Given the description of an element on the screen output the (x, y) to click on. 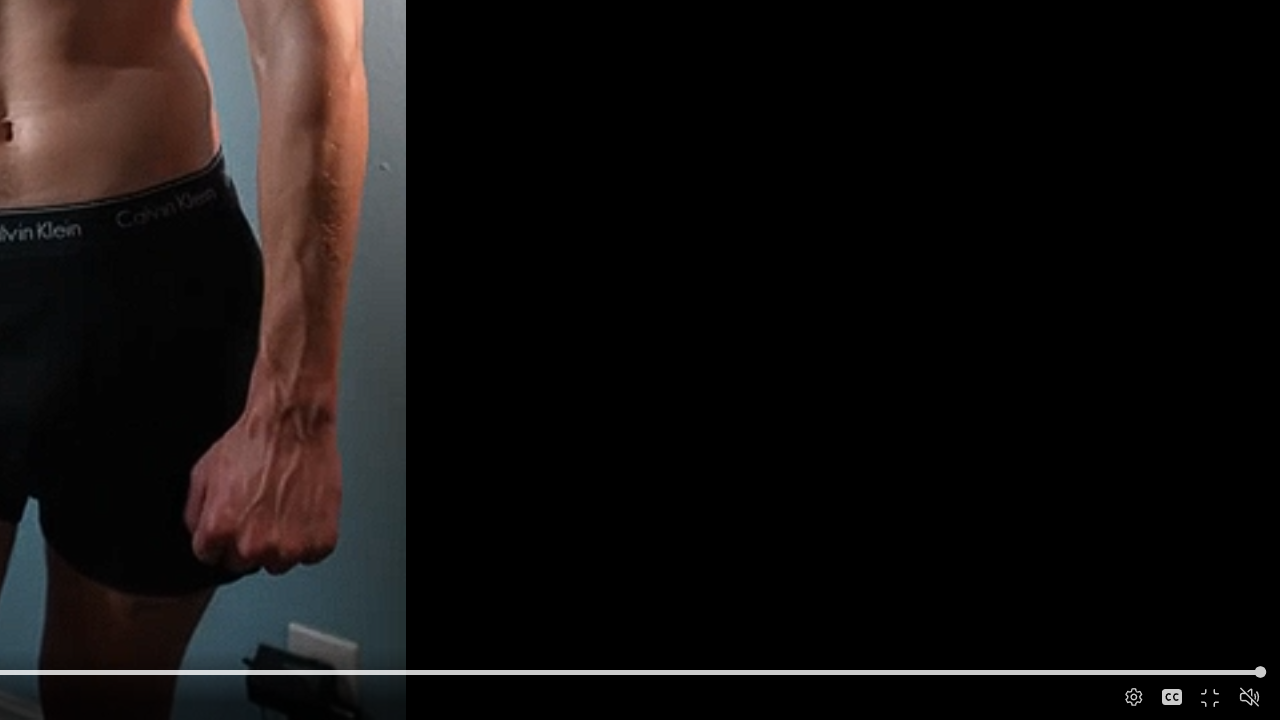
Unmute (1249, 696)
Captions (1171, 697)
Non-Fullscreen (1211, 697)
Quality Settings (1132, 697)
